Given the description of an element on the screen output the (x, y) to click on. 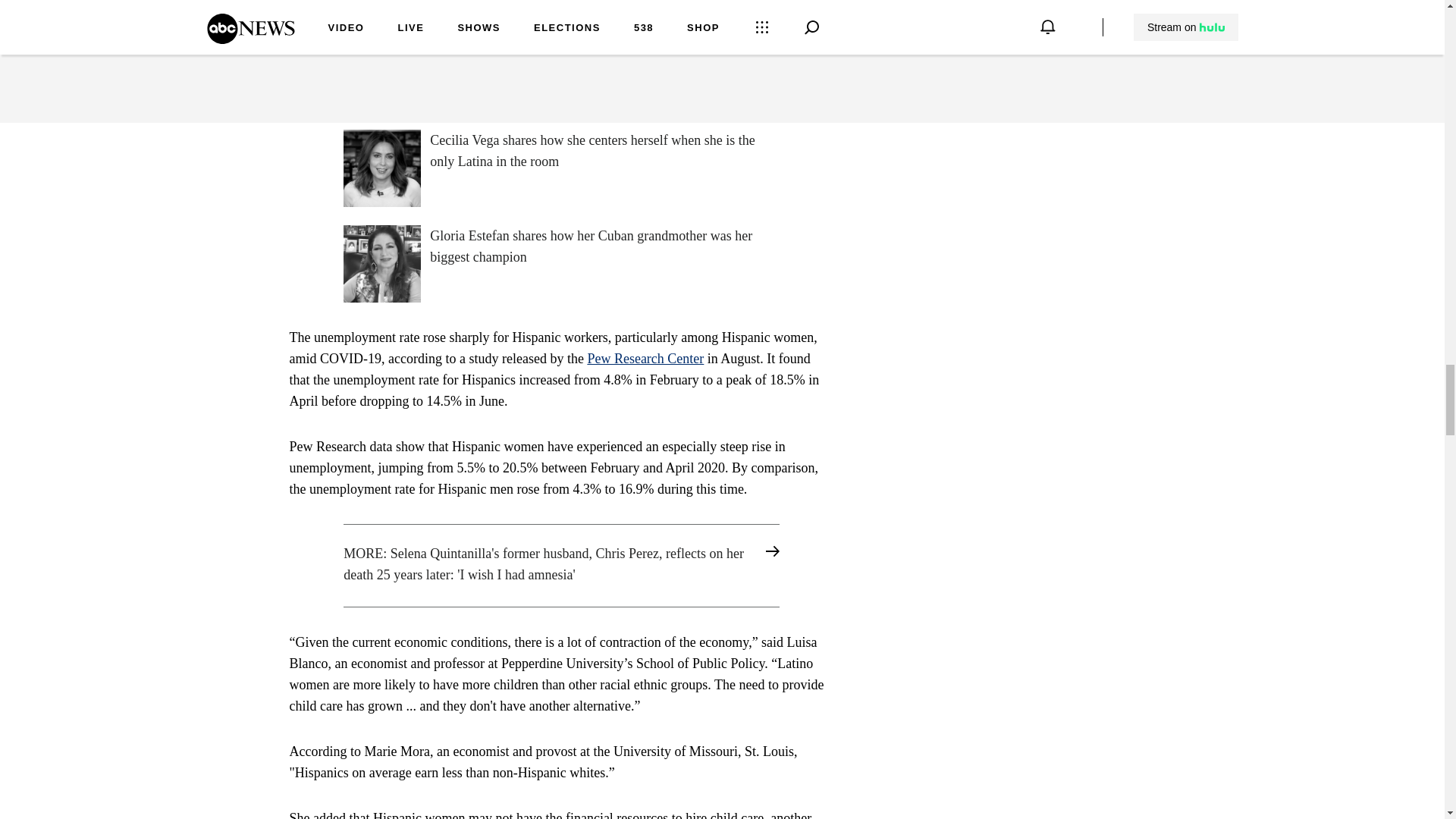
Pew Research Center (644, 358)
